Given the description of an element on the screen output the (x, y) to click on. 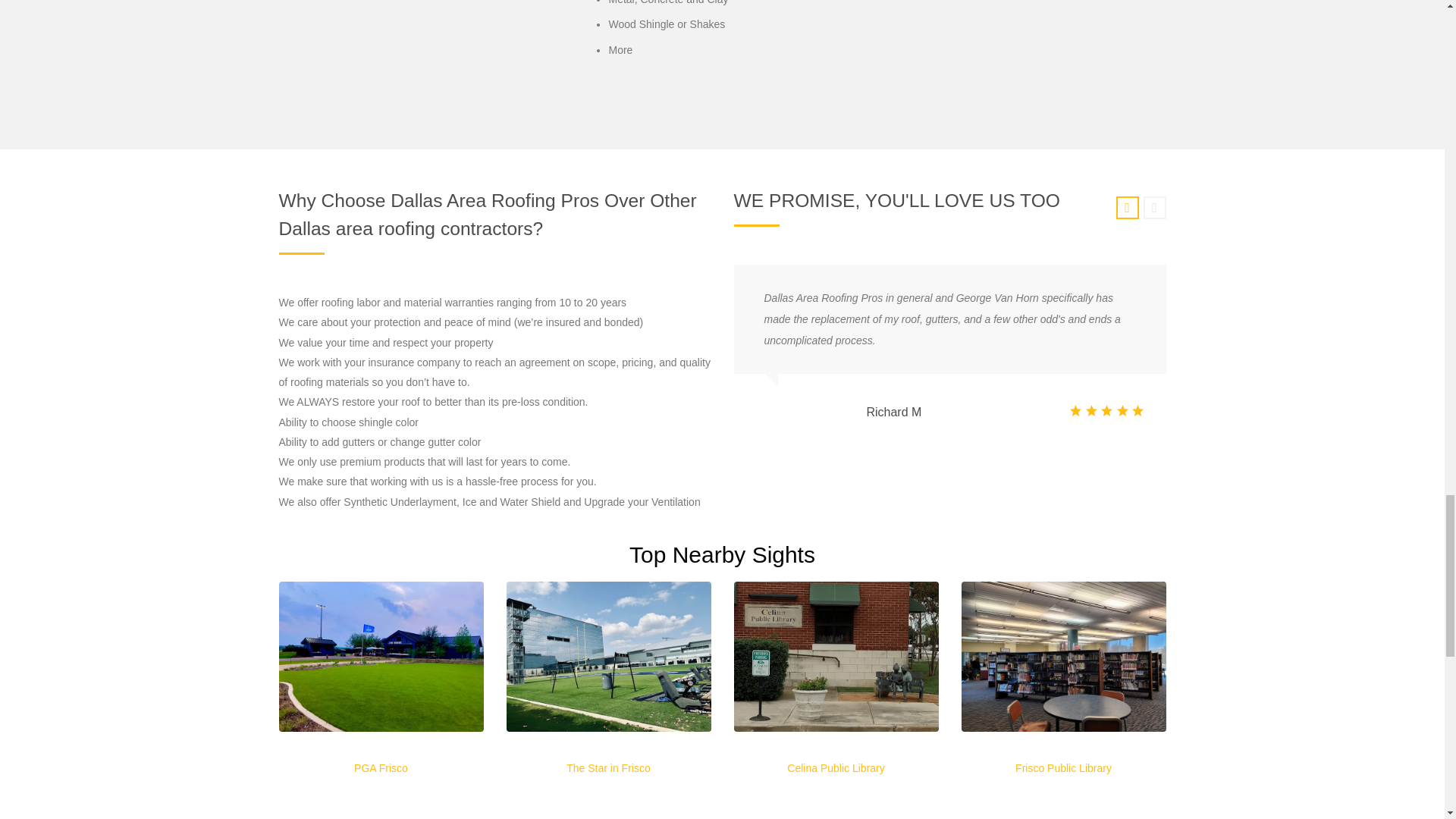
The Star in Frisco (607, 767)
PGA Frisco (380, 767)
Frisco Public Library (1063, 767)
Celina Public Library (835, 767)
